Given the description of an element on the screen output the (x, y) to click on. 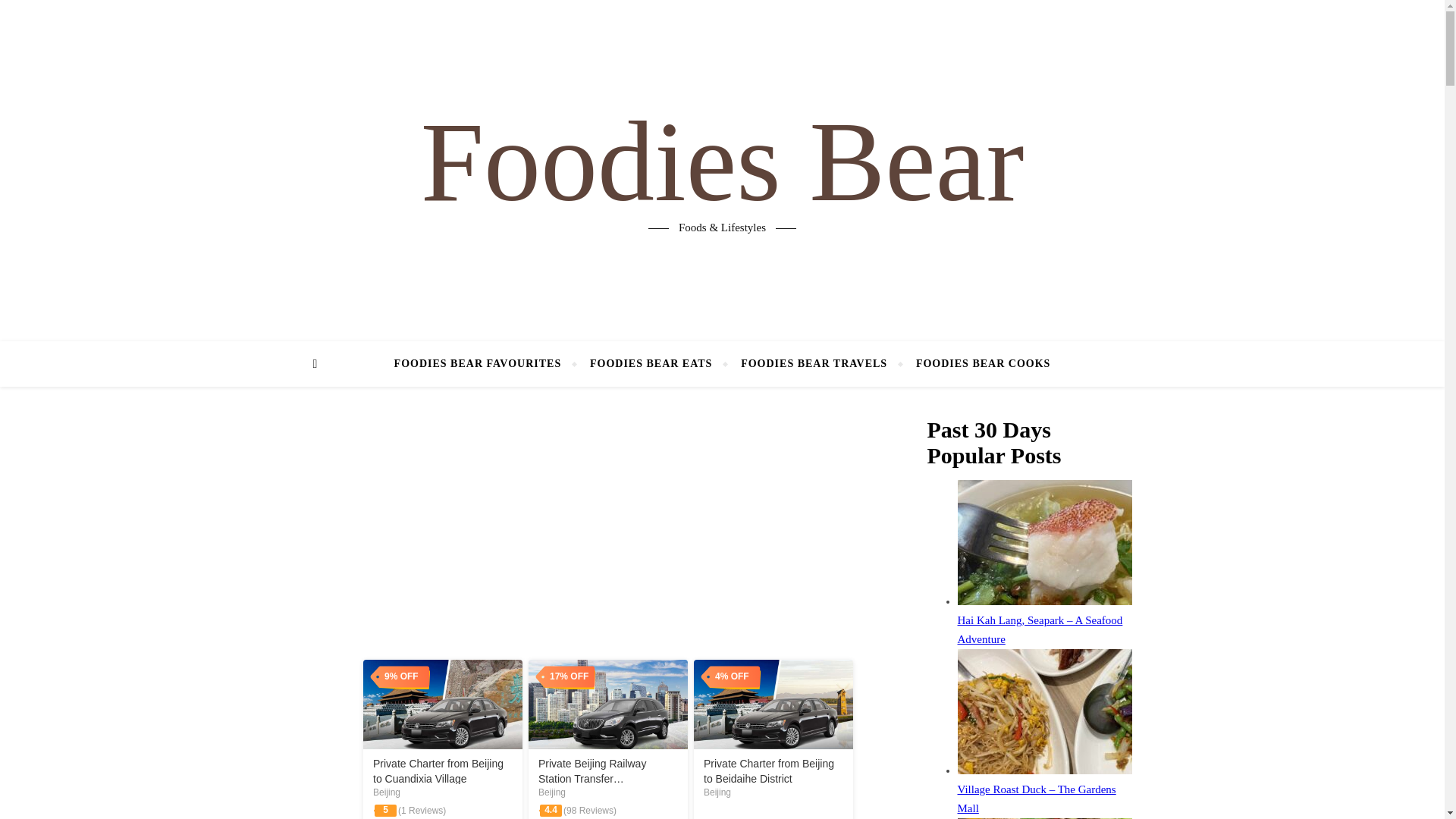
FOODIES BEAR FAVOURITES (484, 363)
FOODIES BEAR EATS (650, 363)
FOODIES BEAR COOKS (975, 363)
Advertisement (607, 529)
FOODIES BEAR TRAVELS (813, 363)
